Given the description of an element on the screen output the (x, y) to click on. 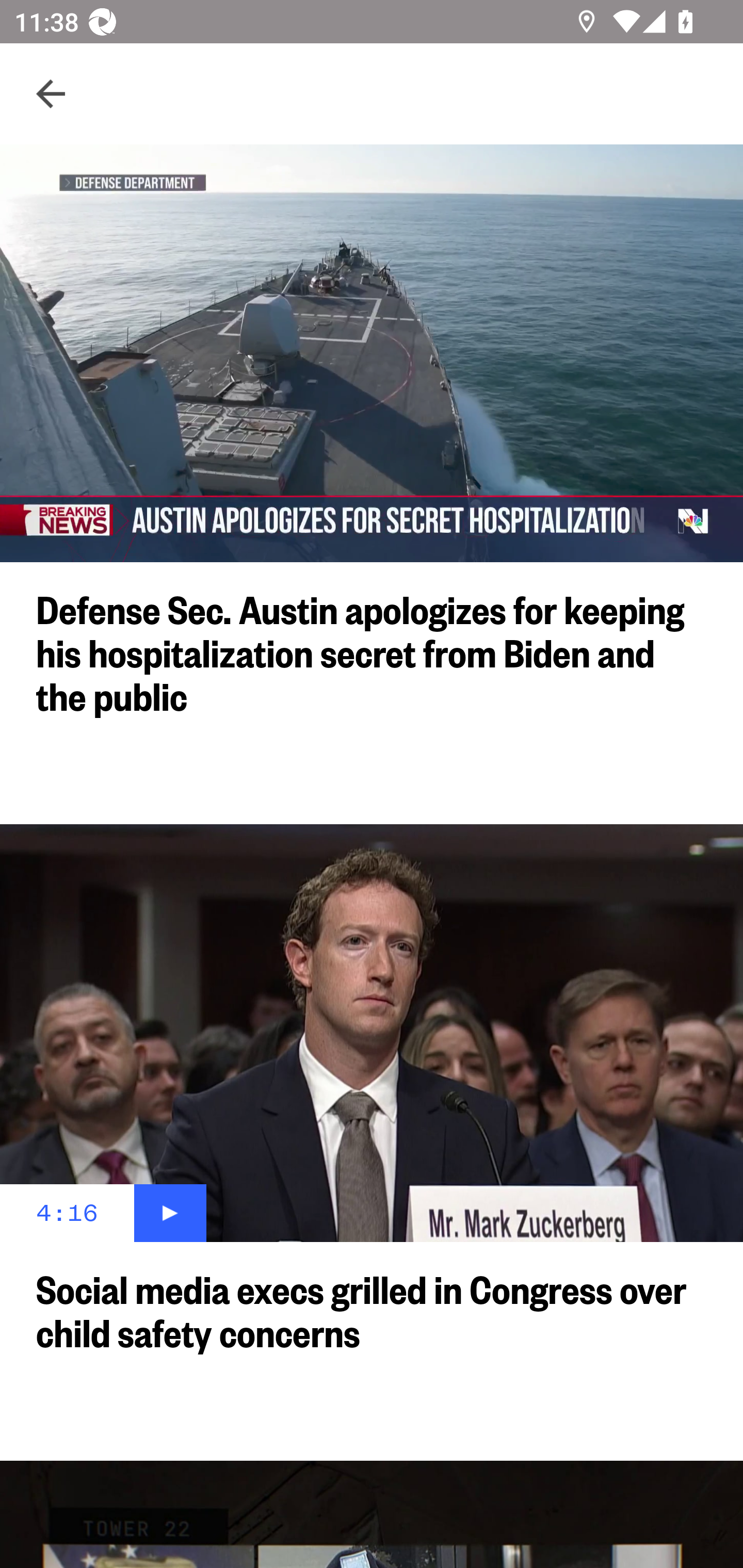
Navigate up (50, 93)
